Given the description of an element on the screen output the (x, y) to click on. 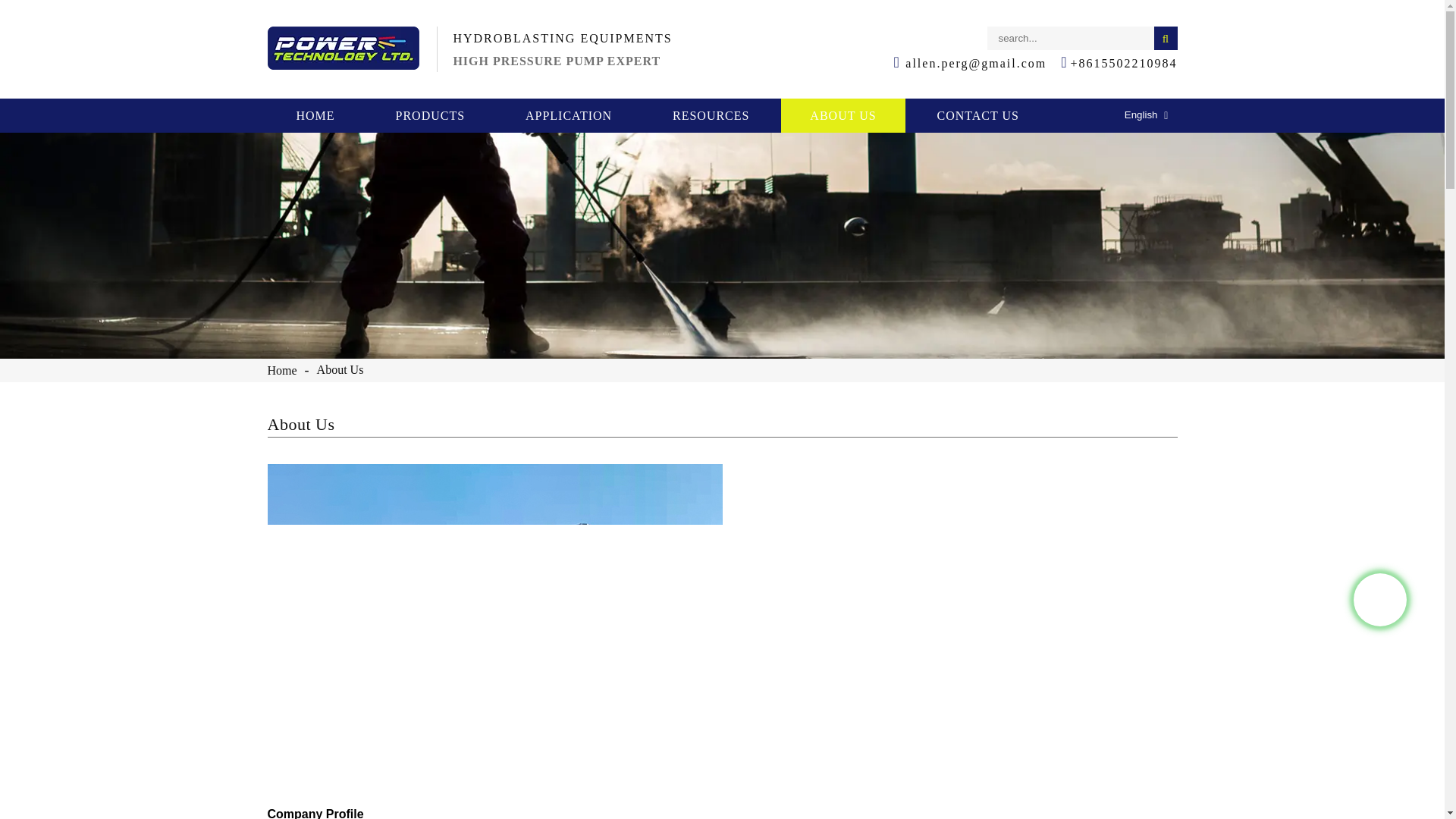
RESOURCES (710, 115)
PRODUCTS (430, 115)
Whatsapp (1380, 599)
ABOUT US (842, 115)
APPLICATION (568, 115)
HOME (314, 115)
